Given the description of an element on the screen output the (x, y) to click on. 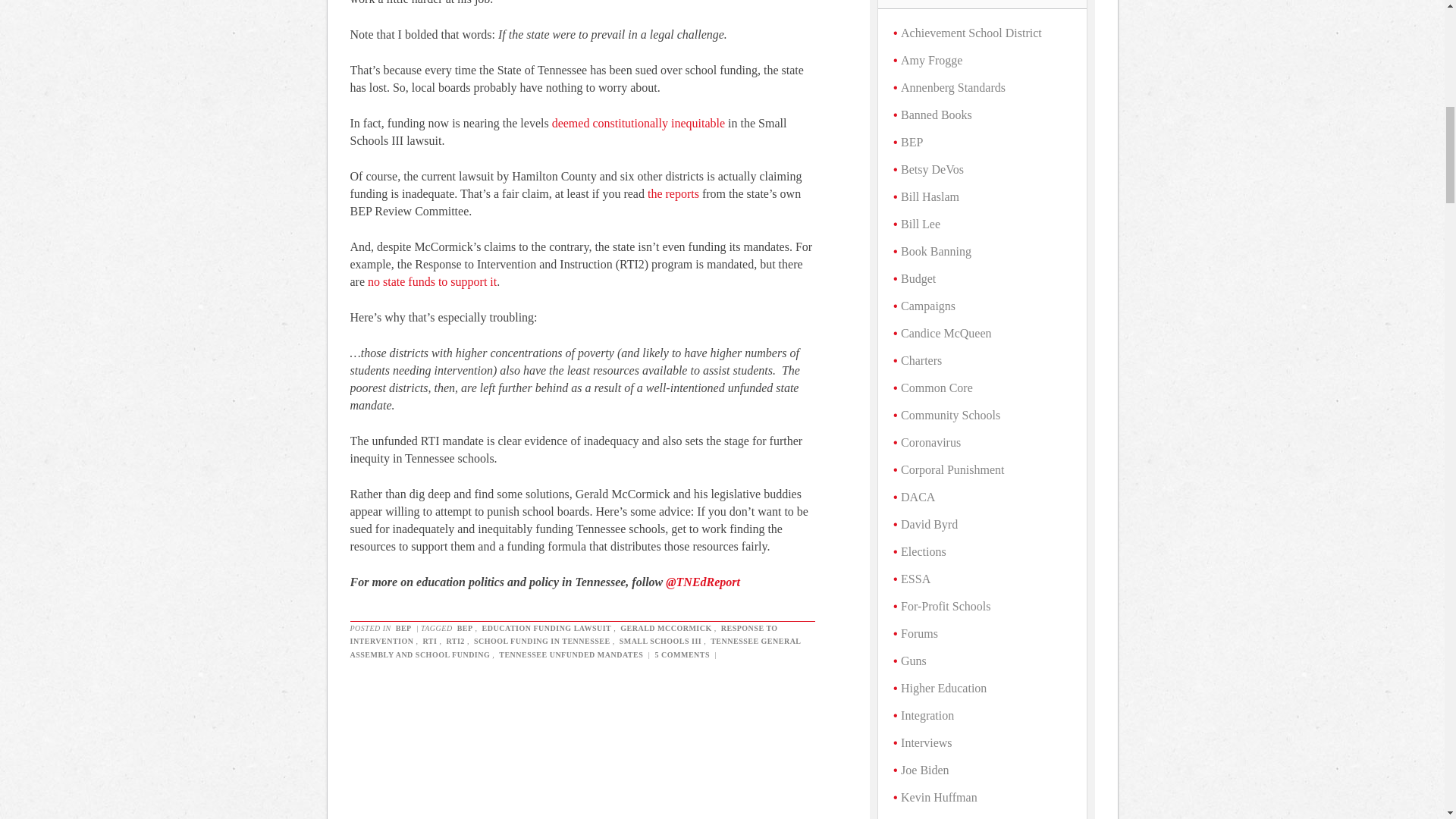
Annenberg Standards (953, 87)
5 COMMENTS (682, 654)
Money Talks (672, 193)
EDUCATION FUNDING LAWSUIT (547, 628)
BEP (912, 141)
SMALL SCHOOLS III (660, 641)
Amy Frogge (931, 60)
GERALD MCCORMICK (665, 628)
the reports (672, 193)
TENNESSEE GENERAL ASSEMBLY AND SCHOOL FUNDING (576, 648)
